Given the description of an element on the screen output the (x, y) to click on. 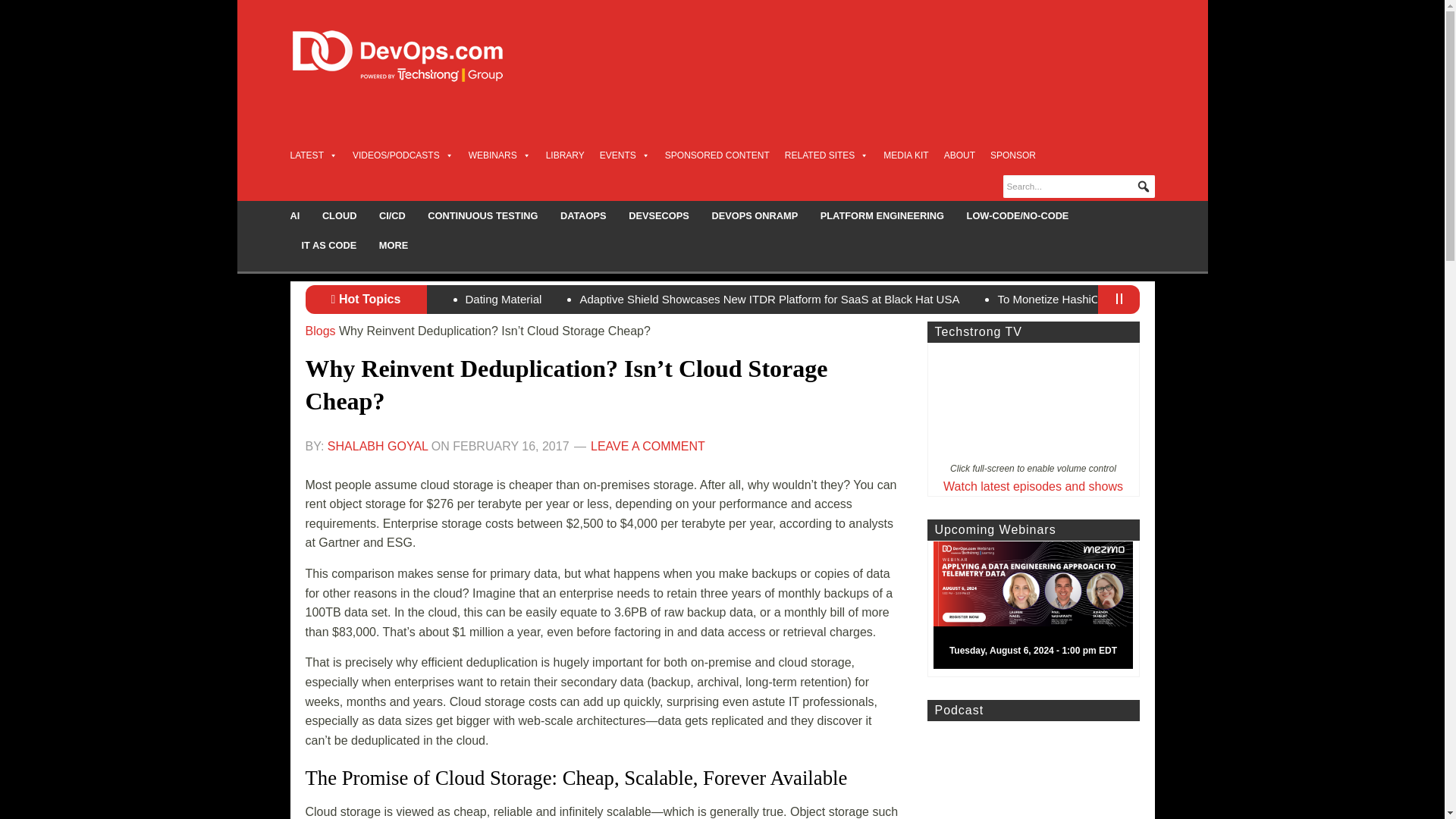
Dating Material (503, 298)
RELATED SITES (825, 155)
Tuesday, August 6, 2024 - 1:00 pm EDT (1038, 608)
DEVOPS.COM (414, 56)
EVENTS (624, 155)
LIBRARY (565, 155)
WEBINARS (499, 155)
SPONSORED CONTENT (717, 155)
LATEST (312, 155)
